Given the description of an element on the screen output the (x, y) to click on. 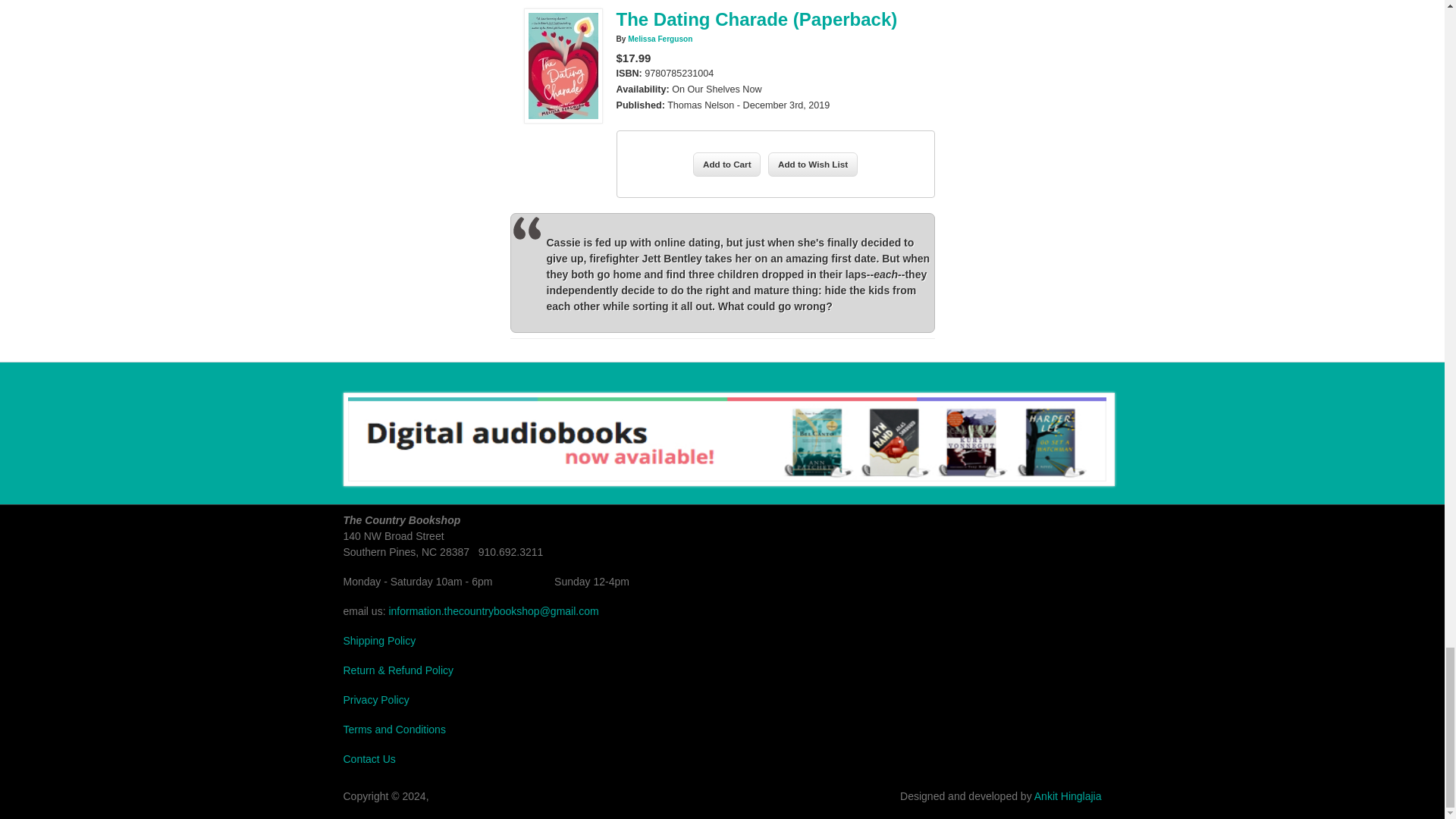
Add to Cart (726, 164)
Add to Wish List (812, 164)
